Given the description of an element on the screen output the (x, y) to click on. 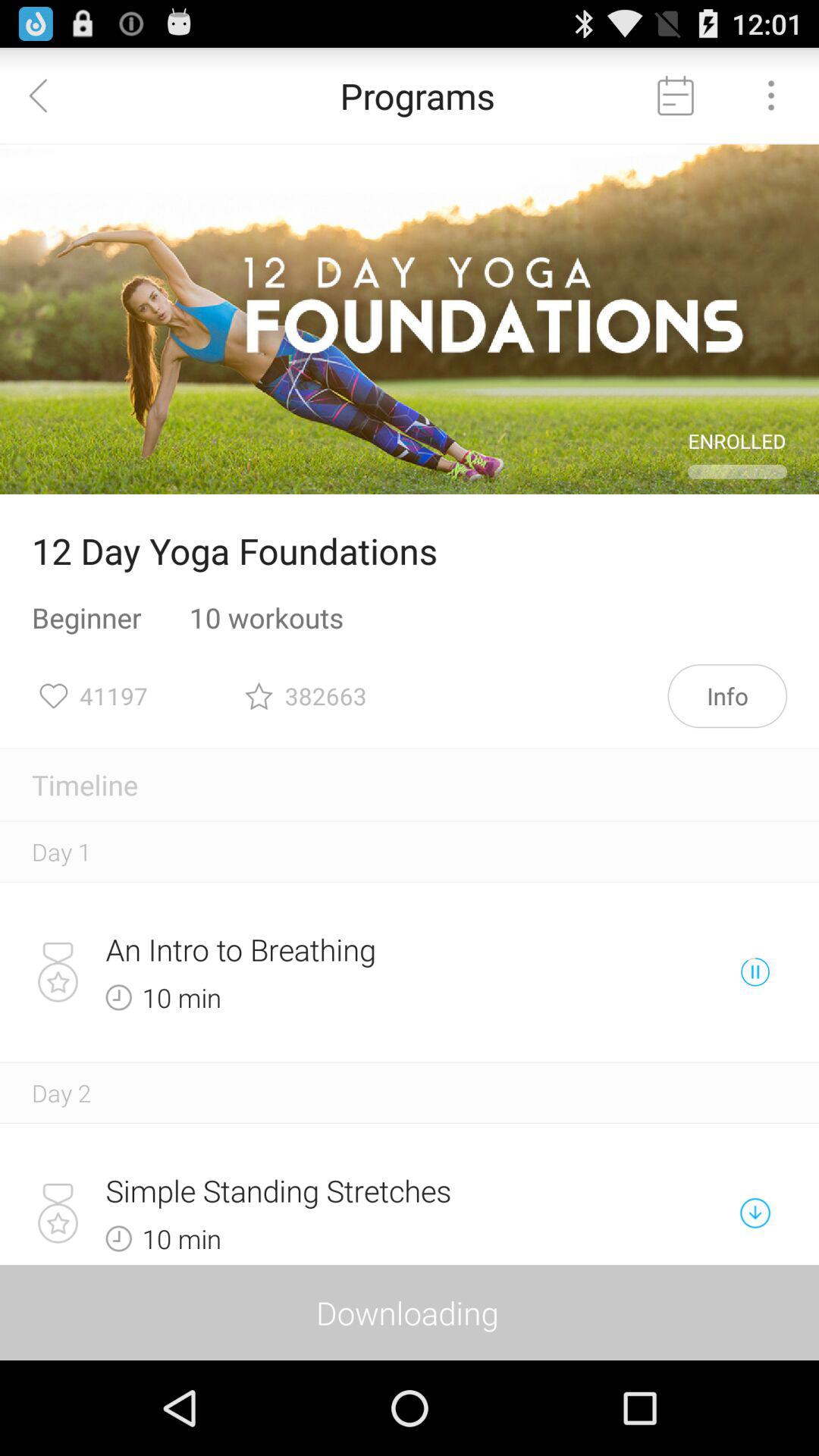
launch icon next to simple standing stretches icon (755, 1213)
